Given the description of an element on the screen output the (x, y) to click on. 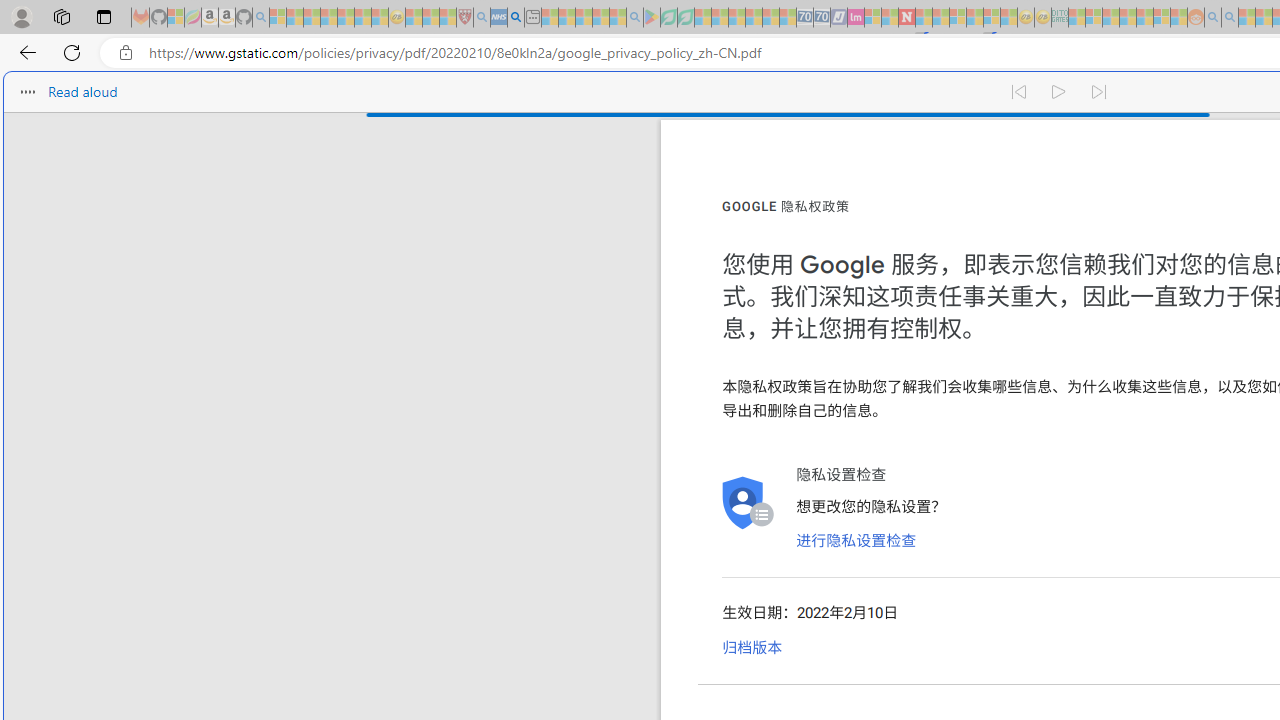
Kinda Frugal - MSN - Sleeping (1144, 17)
Latest Politics News & Archive | Newsweek.com - Sleeping (906, 17)
Robert H. Shmerling, MD - Harvard Health - Sleeping (465, 17)
google - Search - Sleeping (634, 17)
utah sues federal government - Search (515, 17)
